Given the description of an element on the screen output the (x, y) to click on. 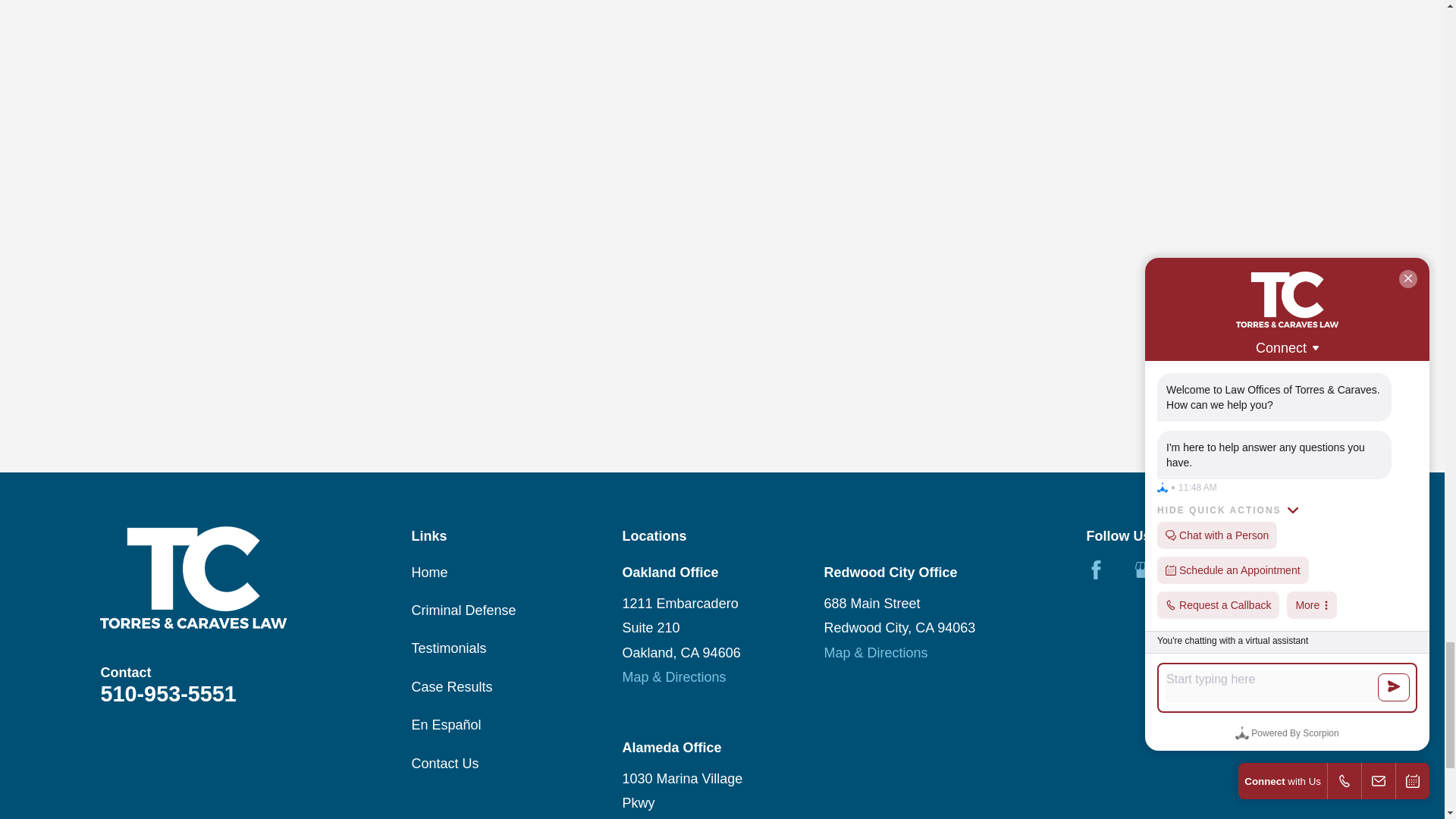
Facebook (1095, 569)
Twitter (1194, 569)
Home (244, 577)
Google Business Profile (1144, 569)
Yelp (1242, 569)
